Given the description of an element on the screen output the (x, y) to click on. 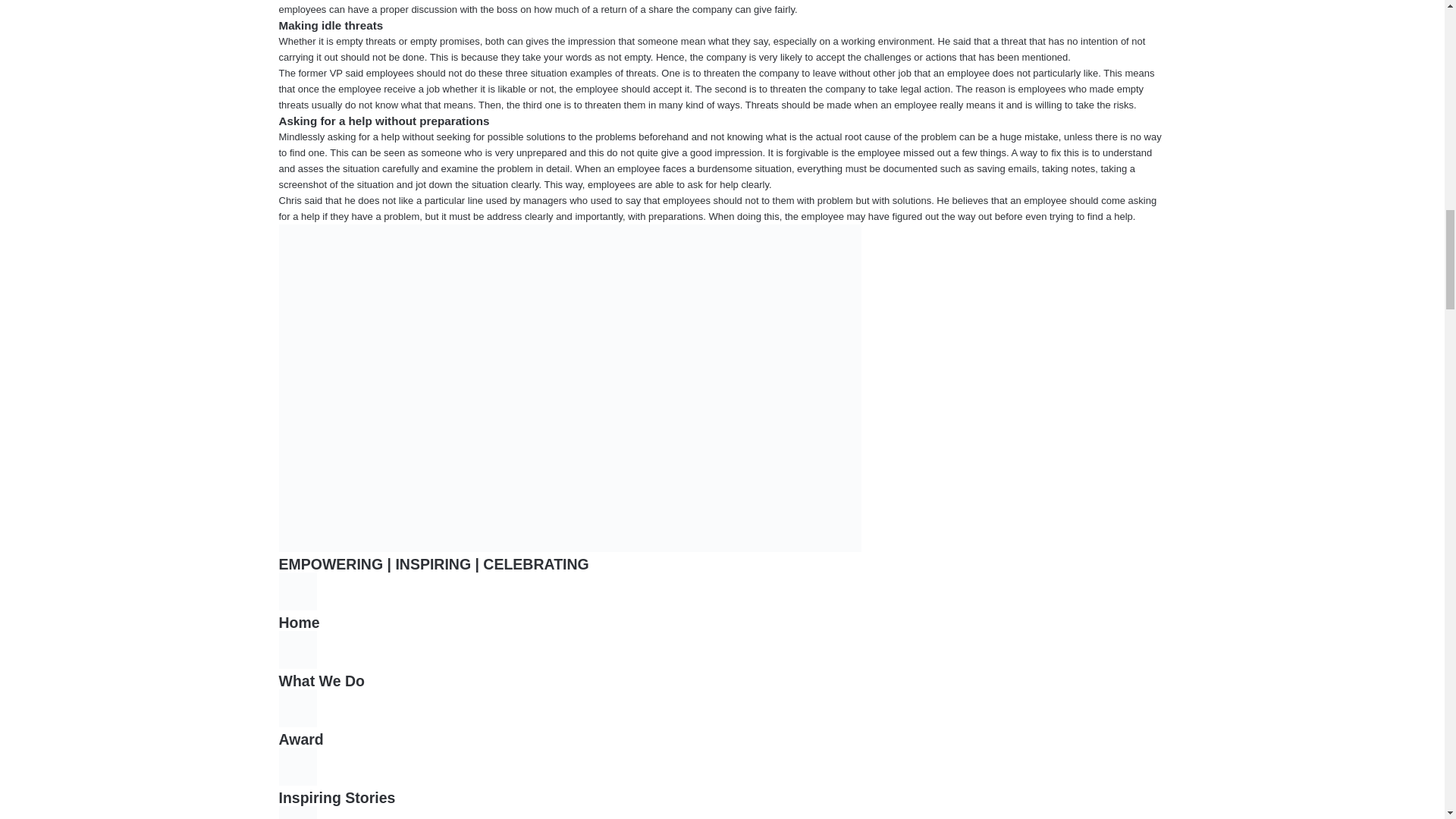
Home (299, 622)
ICON NEWS (298, 766)
What We Do (322, 680)
Inspiring Stories (337, 797)
ICON CONTACT US (298, 812)
ICON award (298, 708)
ICON about us (298, 649)
ICON home (298, 591)
Award (301, 739)
